Given the description of an element on the screen output the (x, y) to click on. 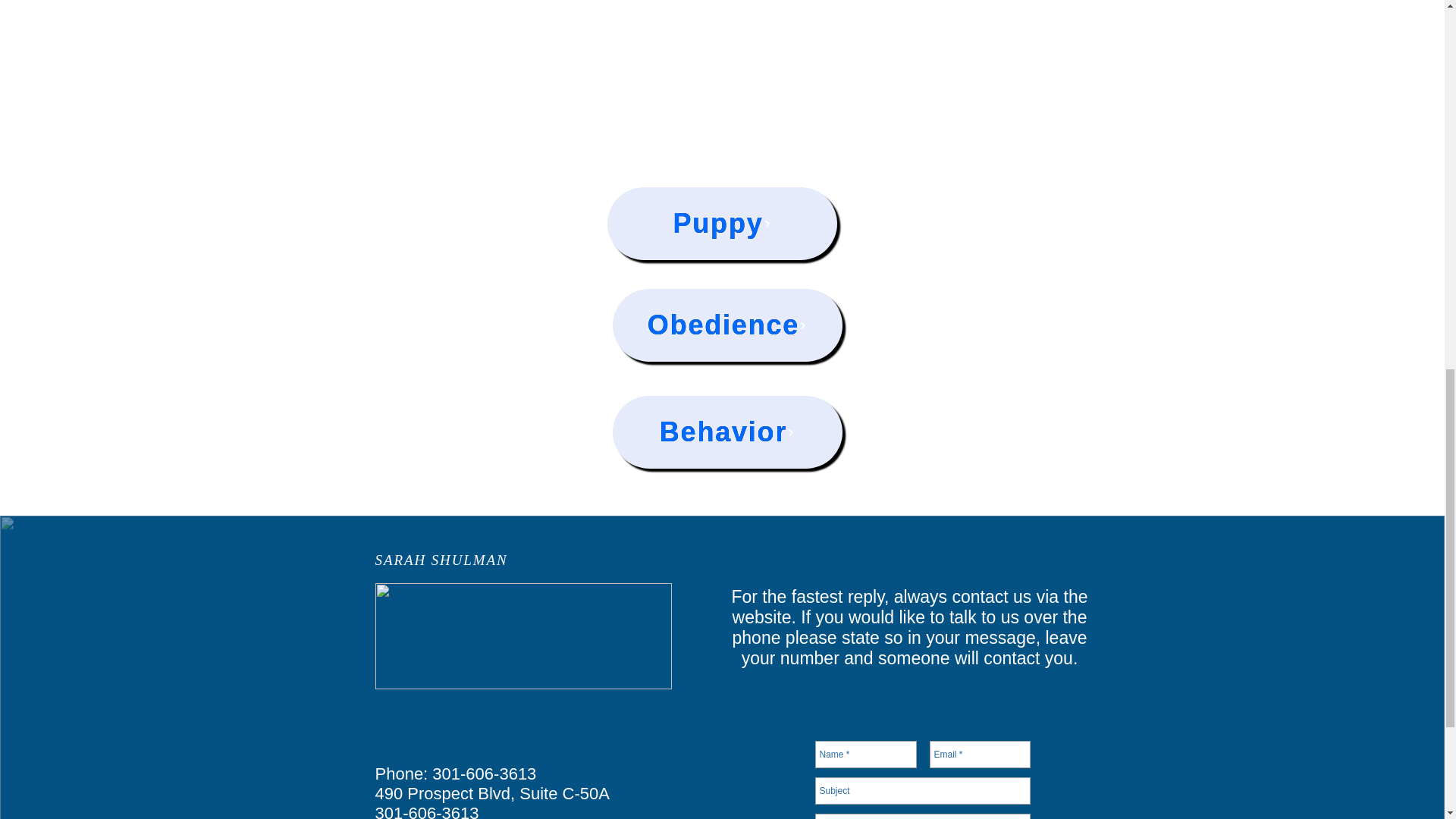
Behavior (727, 431)
Obedience (727, 325)
Puppy (721, 223)
